Given the description of an element on the screen output the (x, y) to click on. 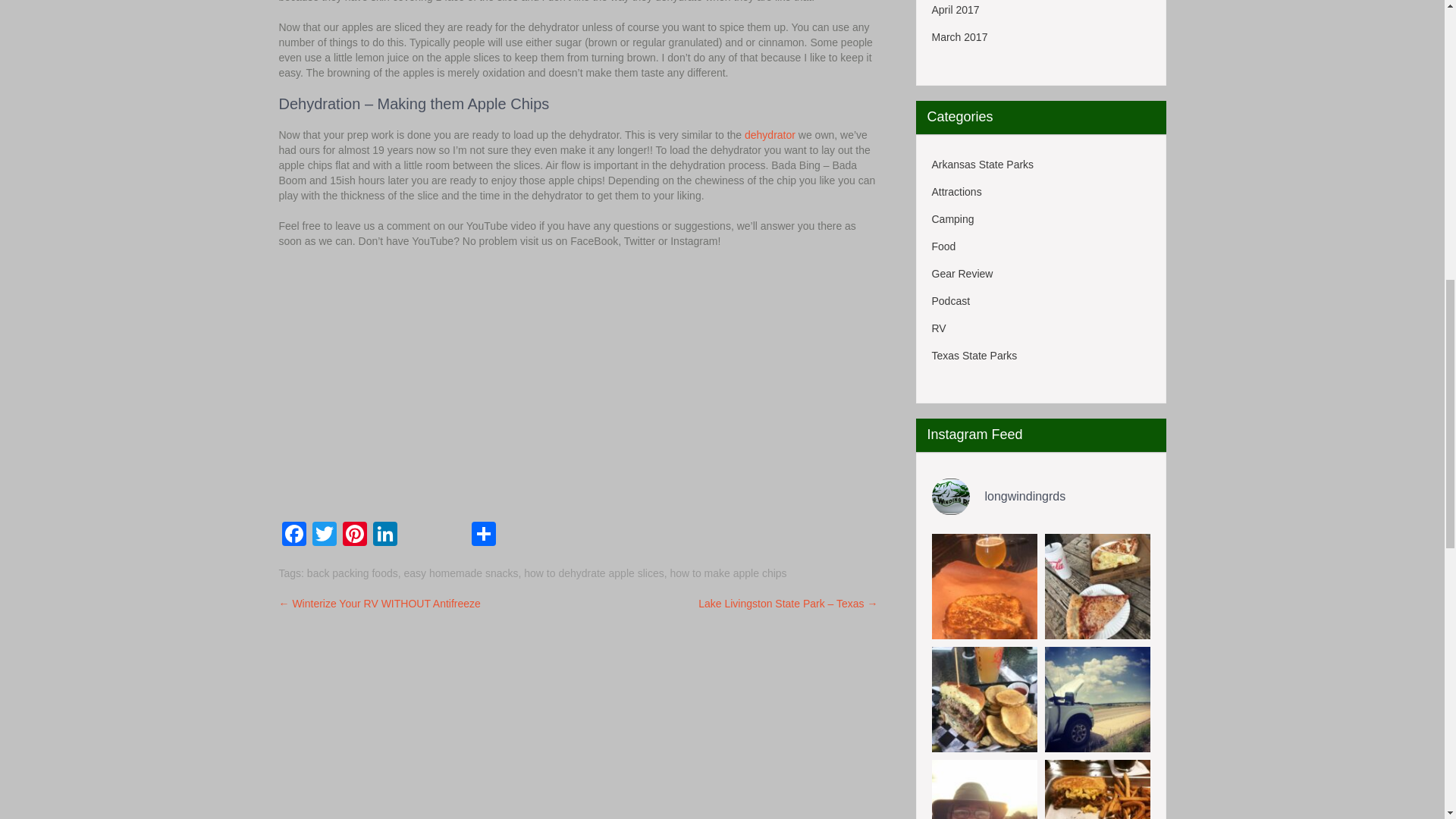
Twitter (323, 535)
Pinterest (354, 535)
LinkedIn (384, 535)
Share (483, 535)
Twitter (323, 535)
LinkedIn (384, 535)
how to dehydrate apple slices (593, 573)
Facebook (293, 535)
back packing foods (352, 573)
Pinterest (354, 535)
dehydrator (769, 134)
how to make apple chips (727, 573)
Facebook (293, 535)
easy homemade snacks (460, 573)
